Given the description of an element on the screen output the (x, y) to click on. 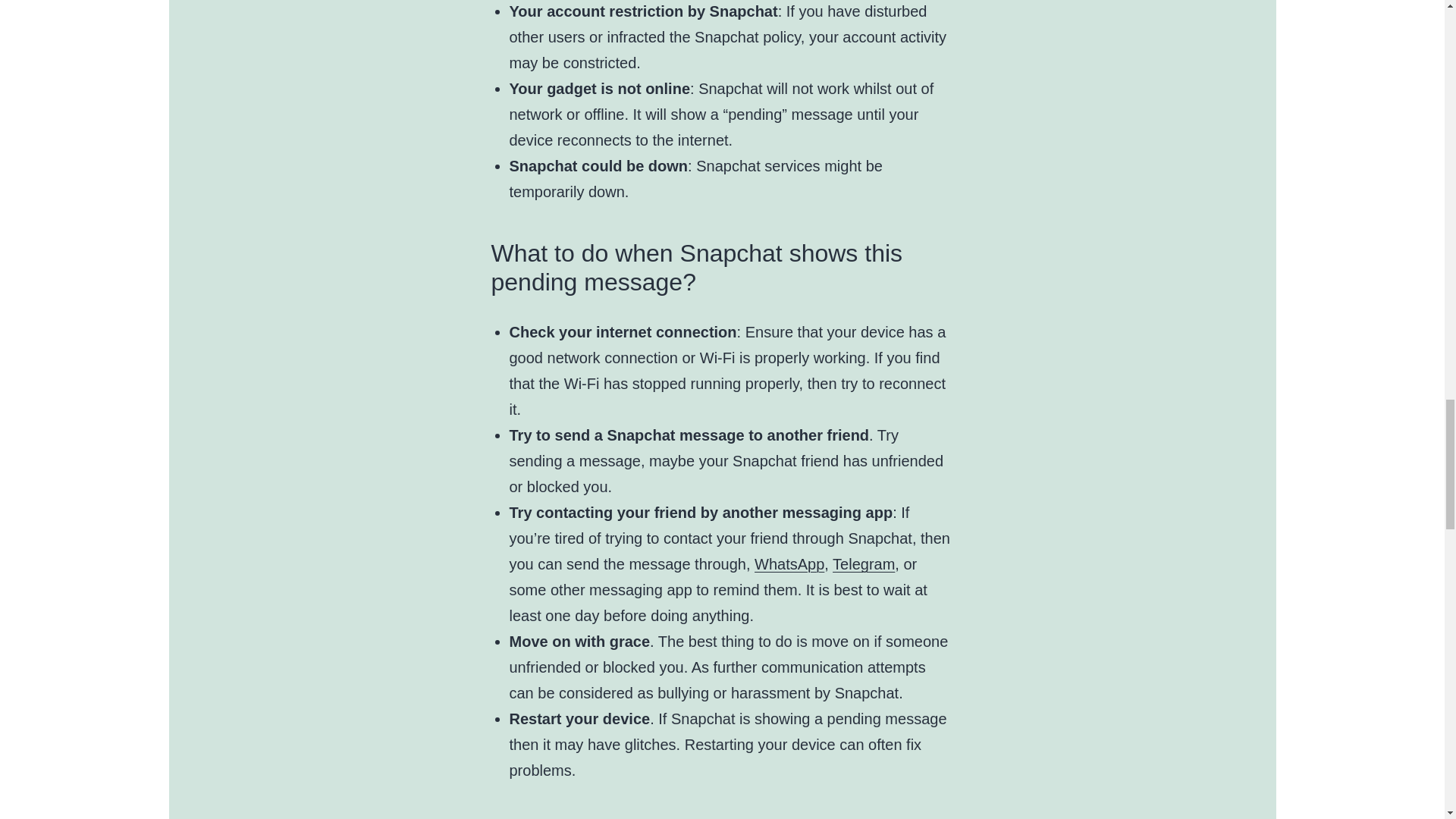
WhatsApp (789, 564)
Telegram (863, 564)
